Given the description of an element on the screen output the (x, y) to click on. 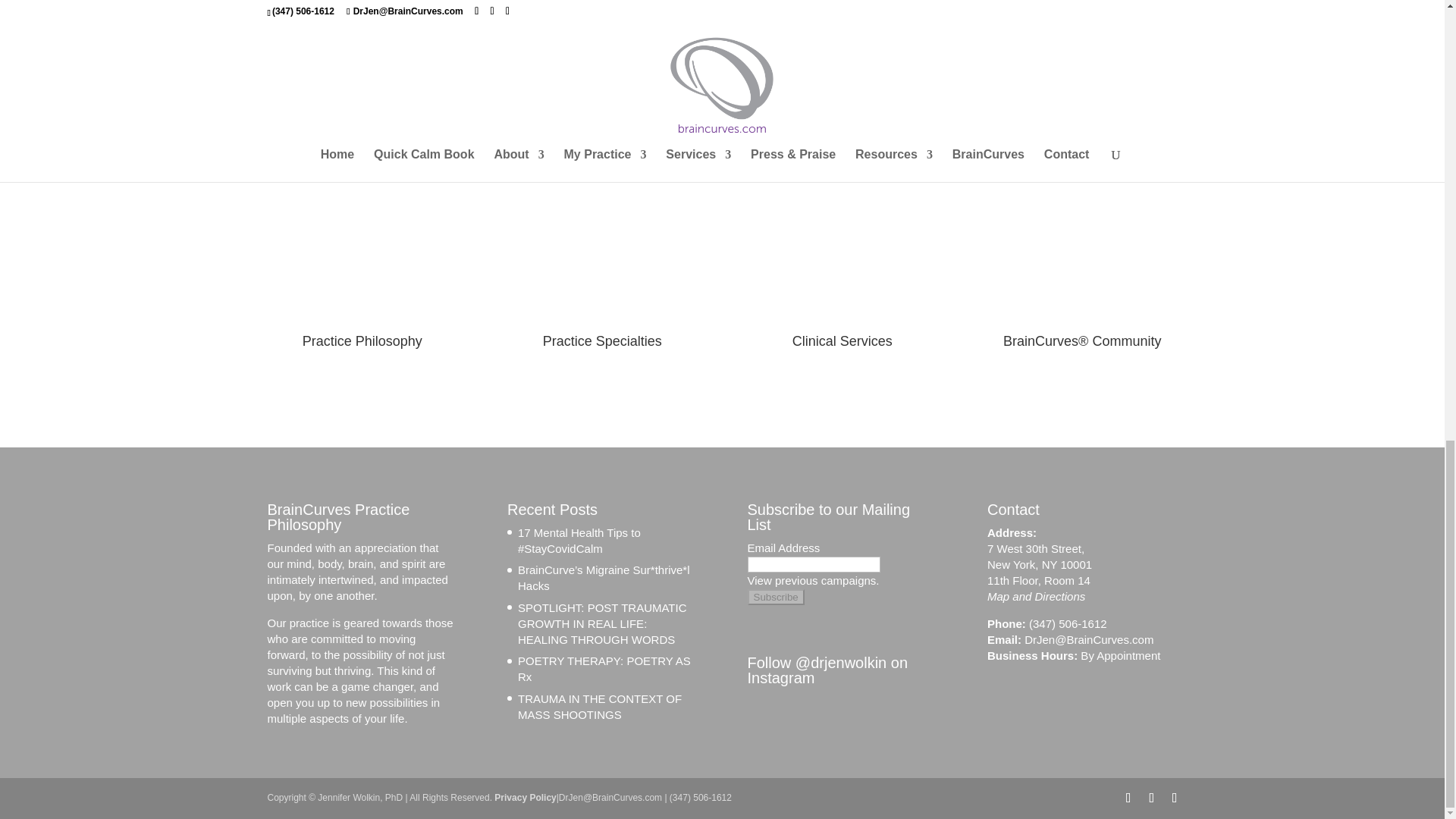
View previous campaigns (813, 580)
Subscribe (776, 596)
